Given the description of an element on the screen output the (x, y) to click on. 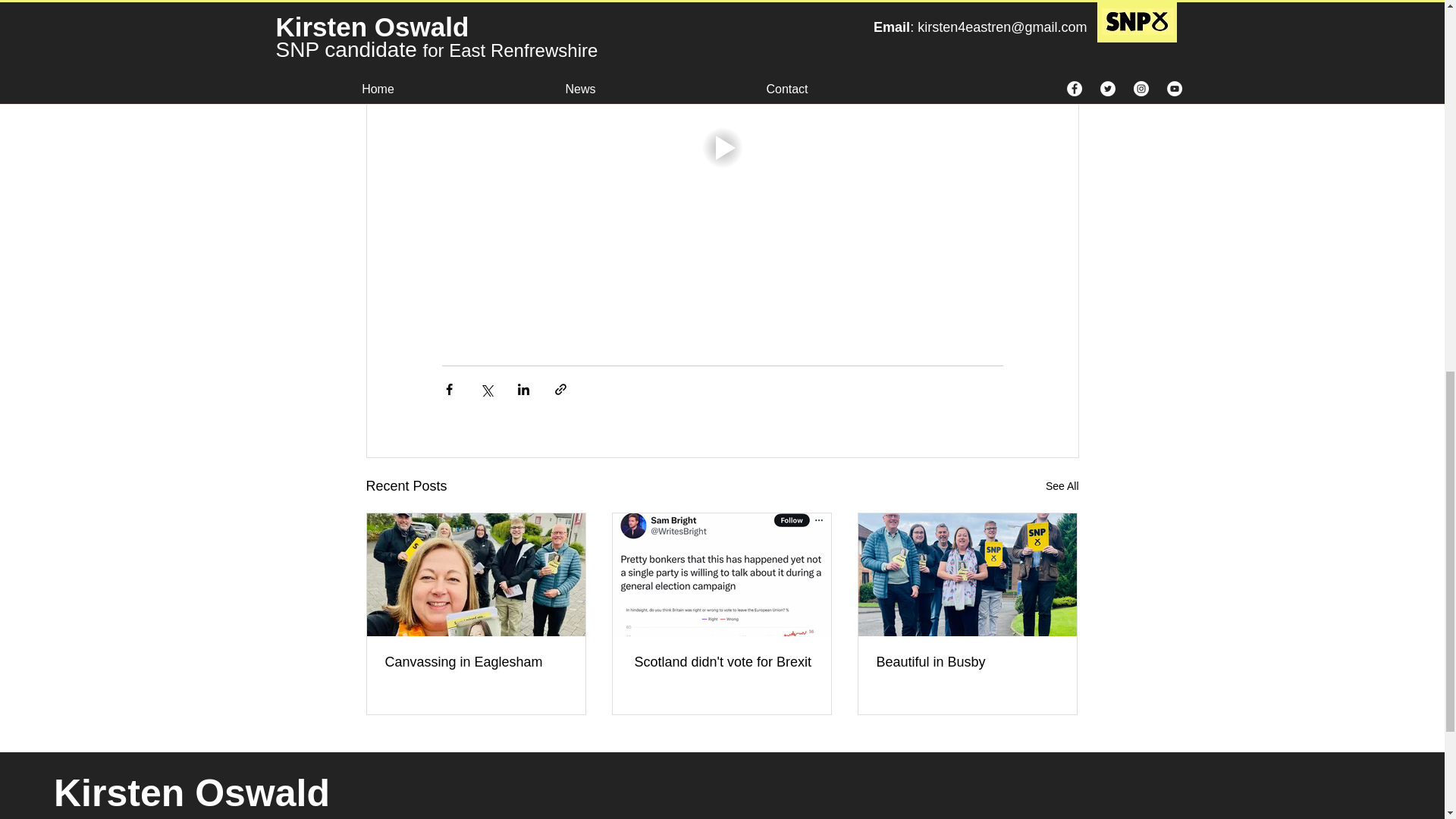
See All (1061, 486)
Canvassing in Eaglesham (476, 662)
Beautiful in Busby (967, 662)
 Scotland didn't vote for Brexit (721, 662)
